Given the description of an element on the screen output the (x, y) to click on. 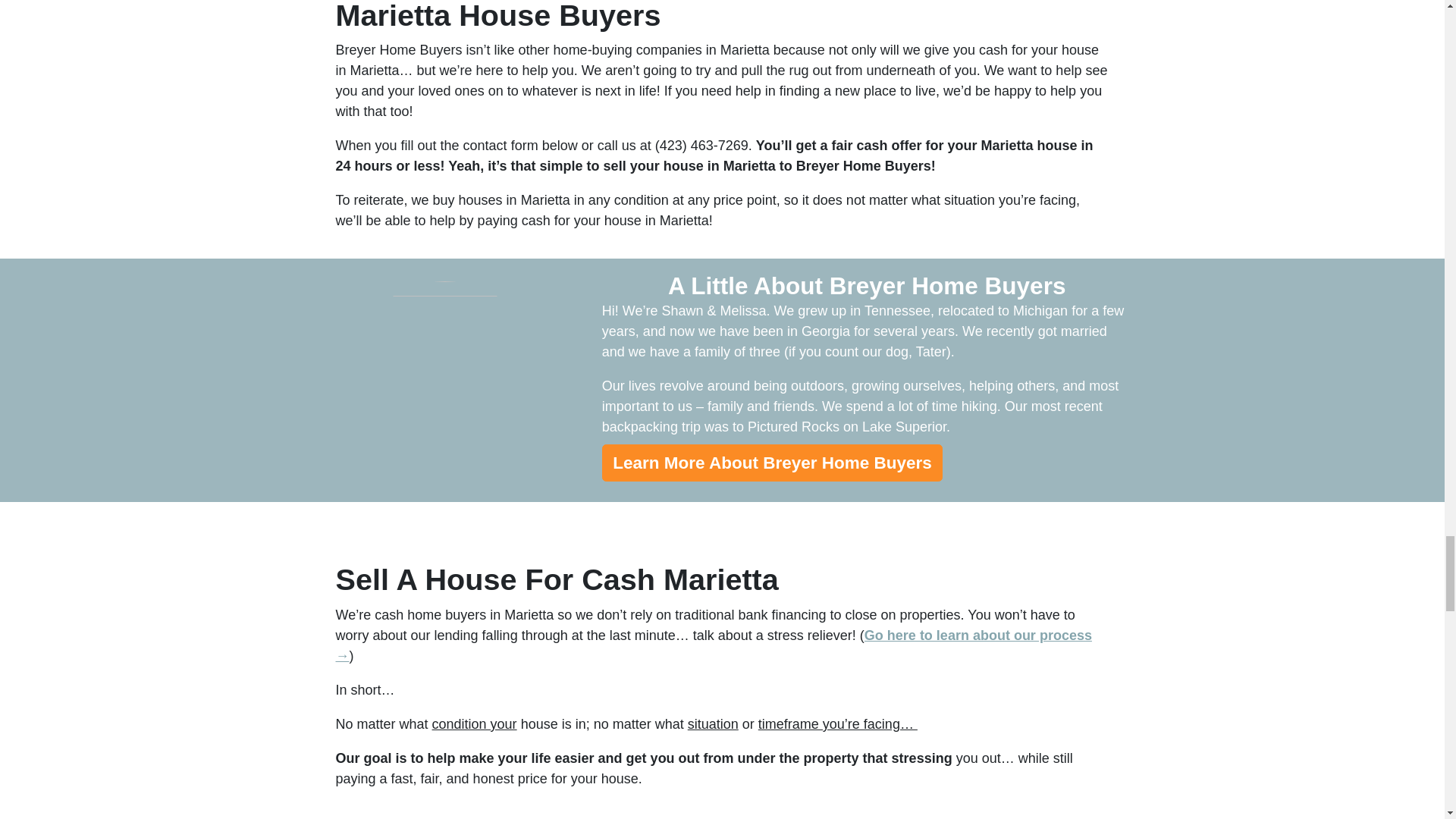
Learn More About Breyer Home Buyers (772, 462)
